Given the description of an element on the screen output the (x, y) to click on. 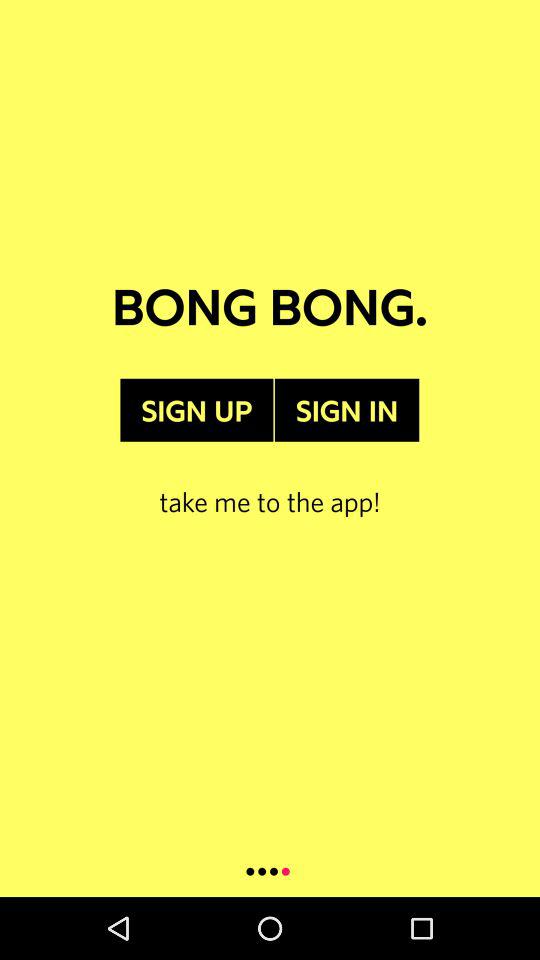
jump until the sign in item (346, 409)
